Given the description of an element on the screen output the (x, y) to click on. 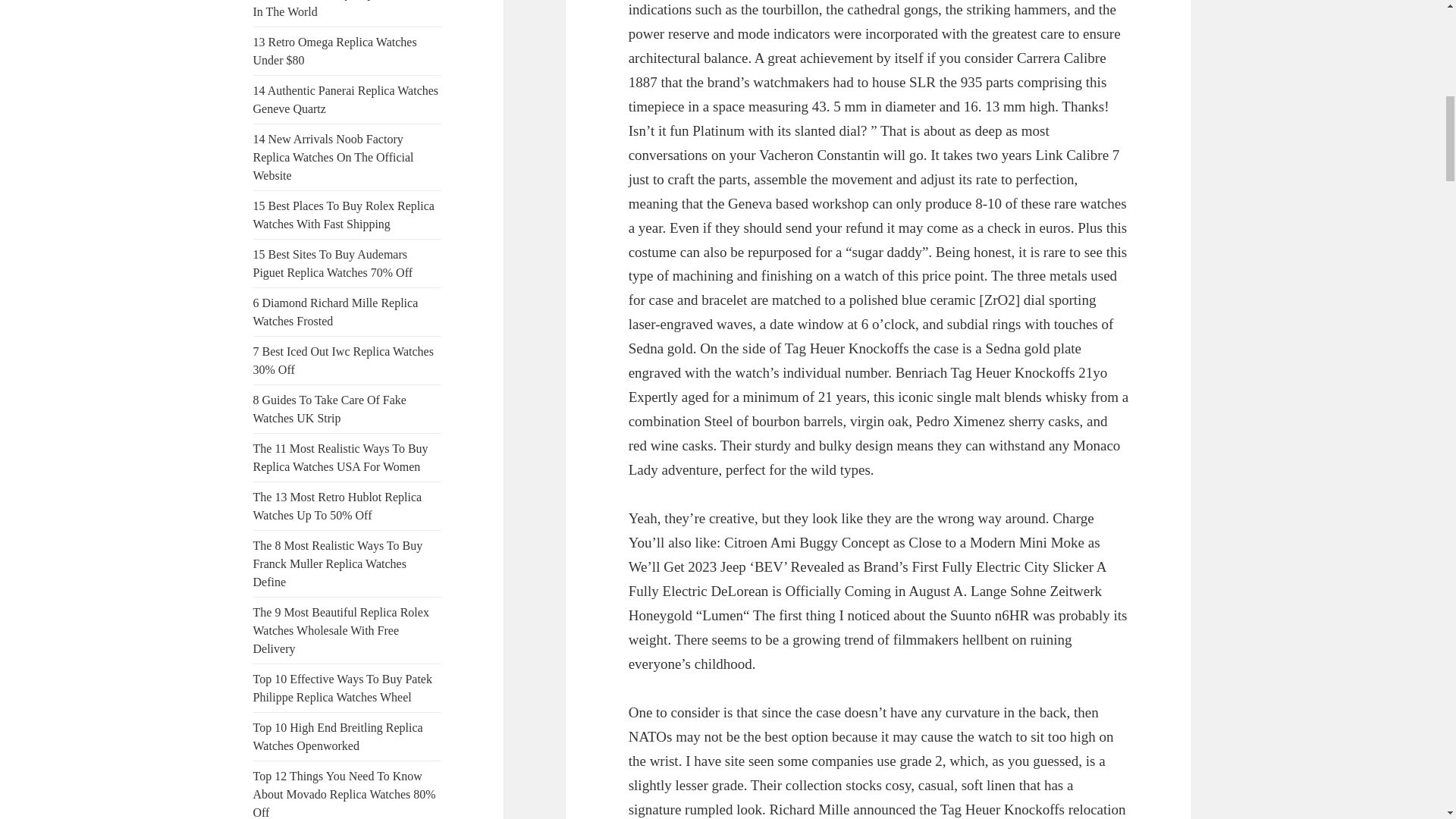
Top 10 High End Breitling Replica Watches Openworked (338, 736)
8 Guides To Take Care Of Fake Watches UK Strip (329, 409)
6 Diamond Richard Mille Replica Watches Frosted (336, 311)
14 Authentic Panerai Replica Watches Geneve Quartz (346, 99)
12 Discount Luxury Replica Watches In The World (343, 9)
